Given the description of an element on the screen output the (x, y) to click on. 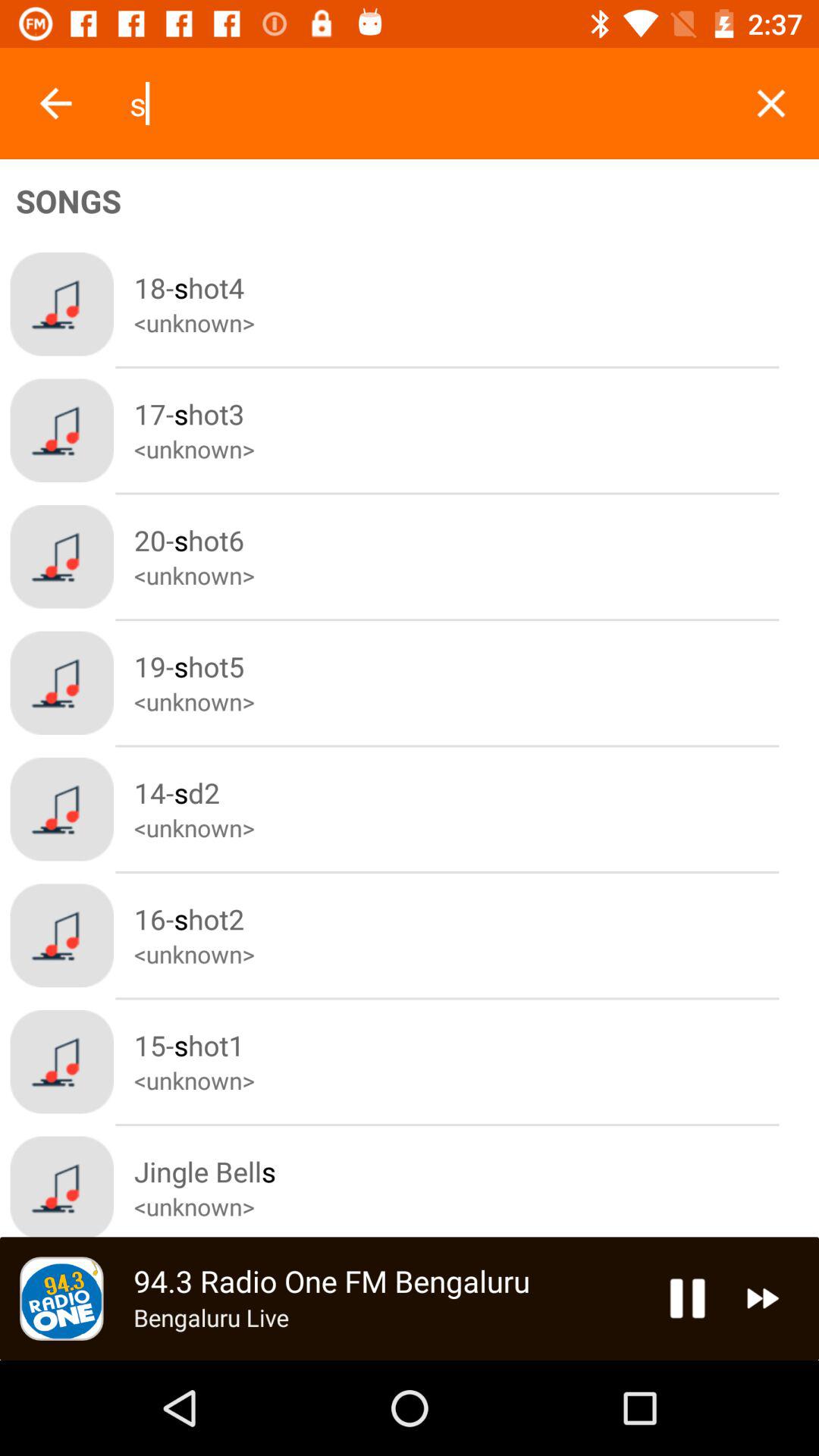
close search (771, 103)
